Given the description of an element on the screen output the (x, y) to click on. 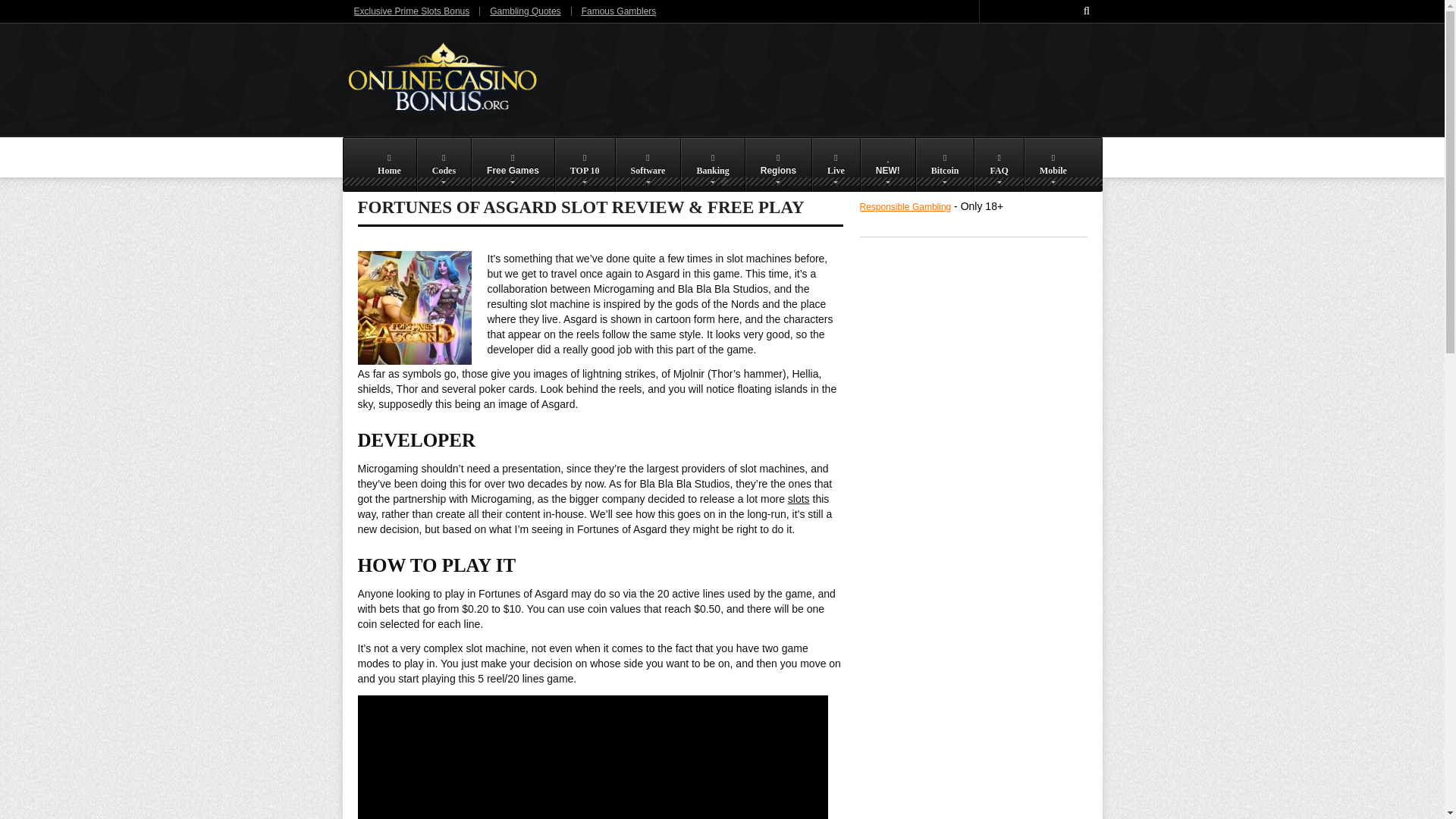
Exclusive Prime Slots Bonus (410, 10)
Codes (443, 165)
Home (389, 165)
Gambling Quotes (524, 10)
Famous Gamblers (618, 10)
